Given the description of an element on the screen output the (x, y) to click on. 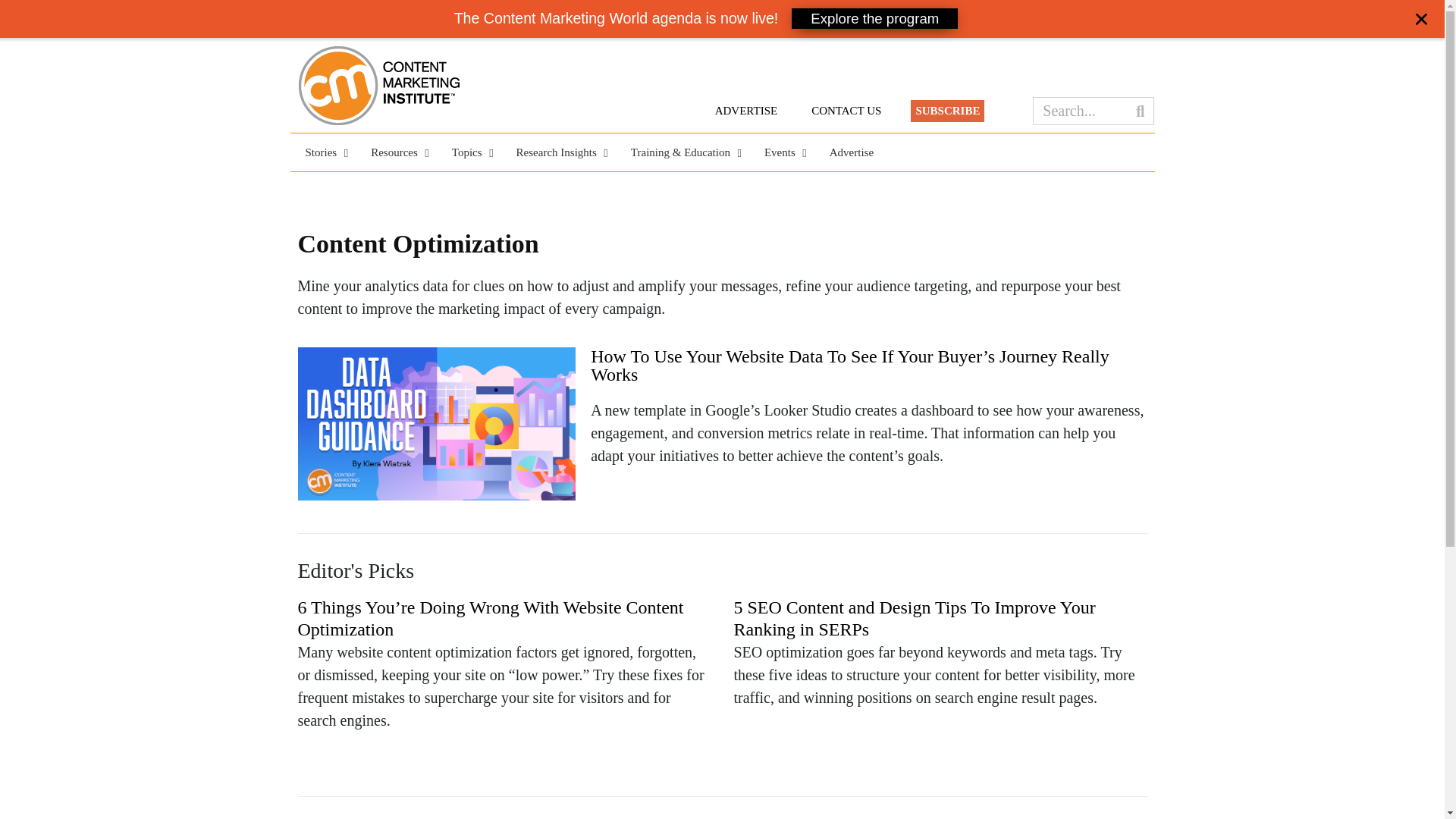
Resources (395, 152)
CONTACT US (845, 110)
ADVERTISE (745, 110)
Stories (322, 152)
SUBSCRIBE (947, 110)
Topics (468, 152)
